Given the description of an element on the screen output the (x, y) to click on. 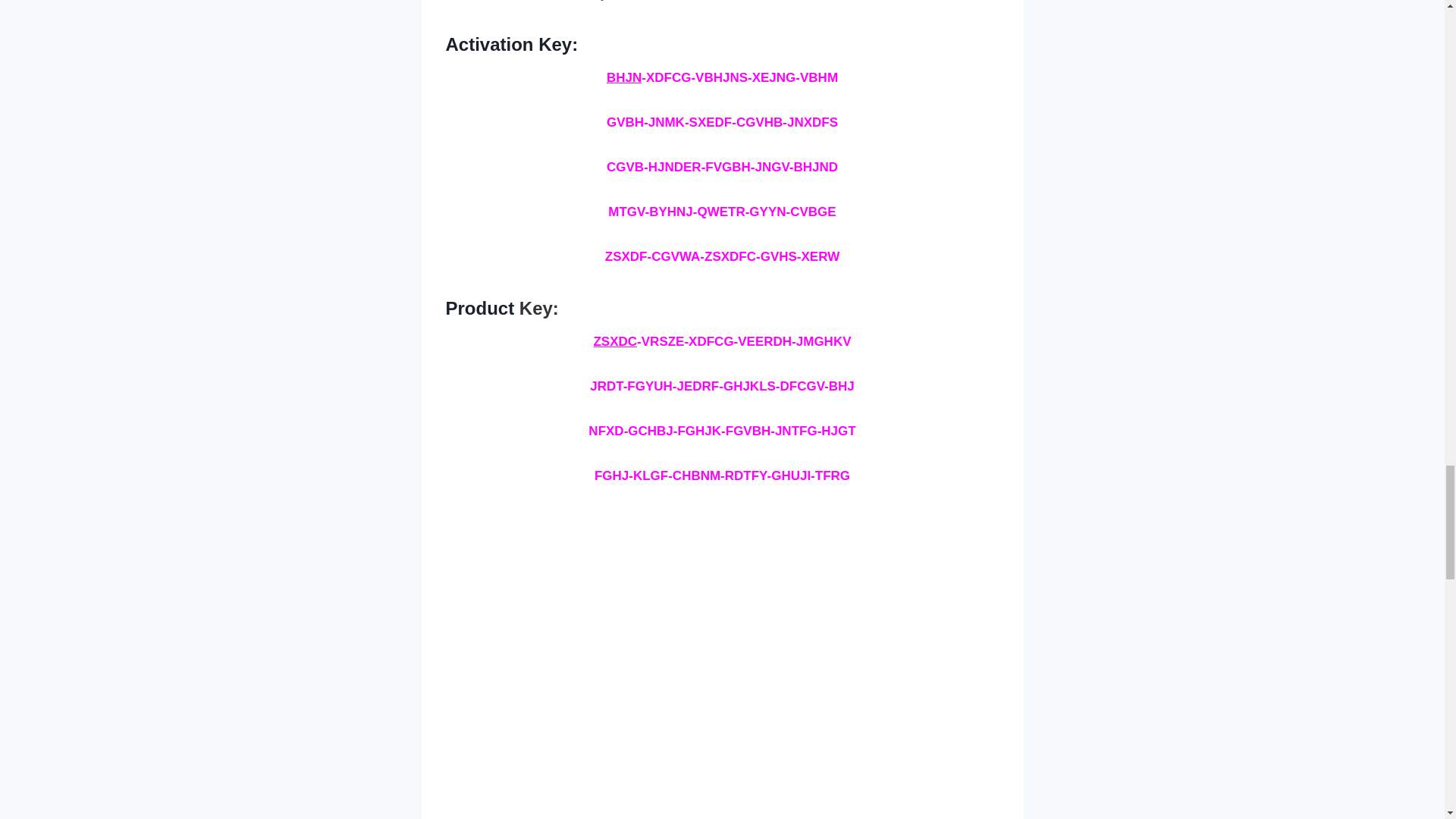
ZSXDC (614, 341)
BHJN (624, 77)
